Given the description of an element on the screen output the (x, y) to click on. 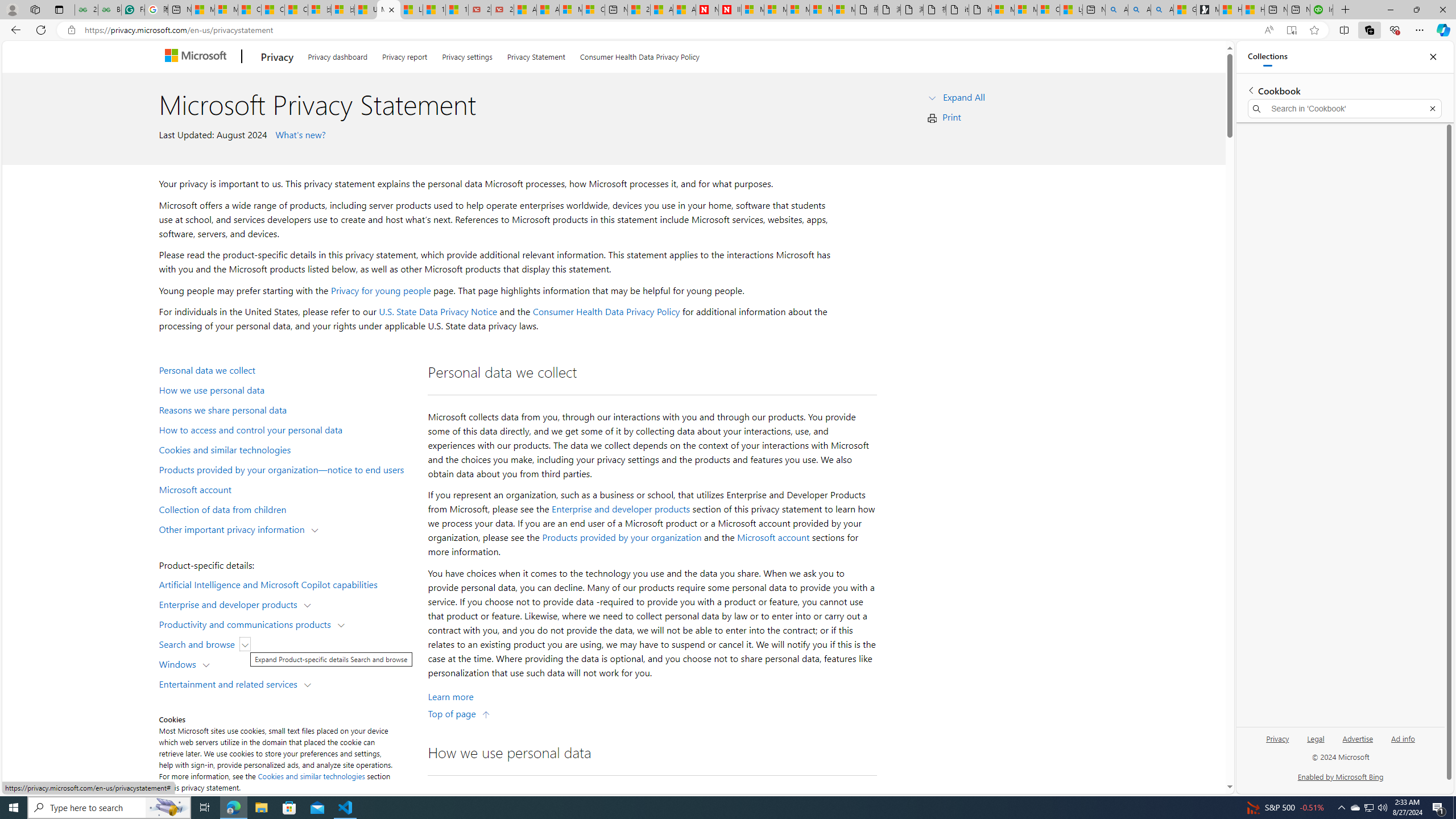
Cloud Computing Services | Microsoft Azure (593, 9)
Consumer Health Data Privacy Policy (1048, 9)
Privacy Statement (535, 54)
Privacy Statement (536, 54)
itconcepthk.com/projector_solutions.mp4 (979, 9)
